Given the description of an element on the screen output the (x, y) to click on. 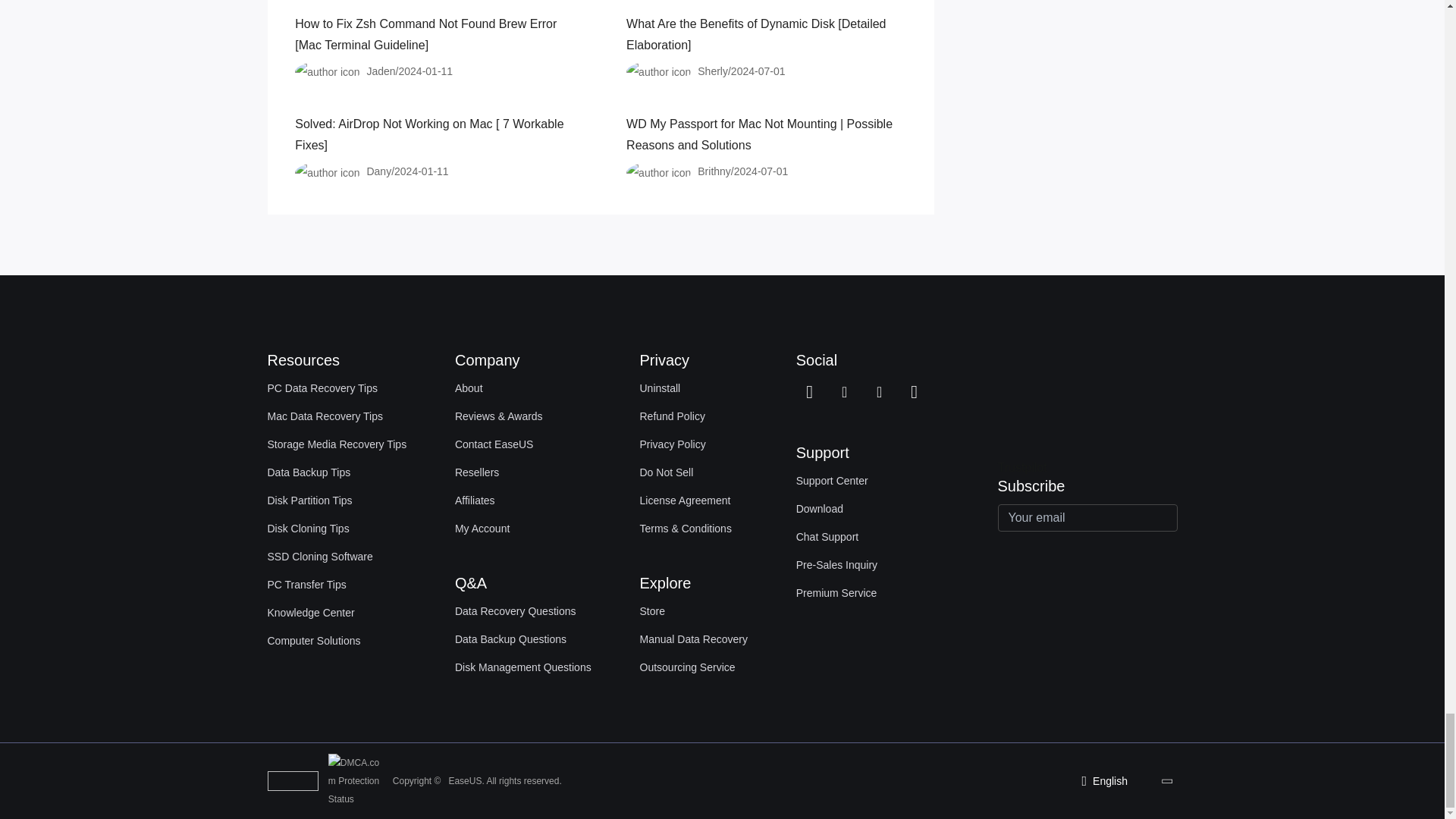
DMCA.com Protection Status (358, 779)
